Given the description of an element on the screen output the (x, y) to click on. 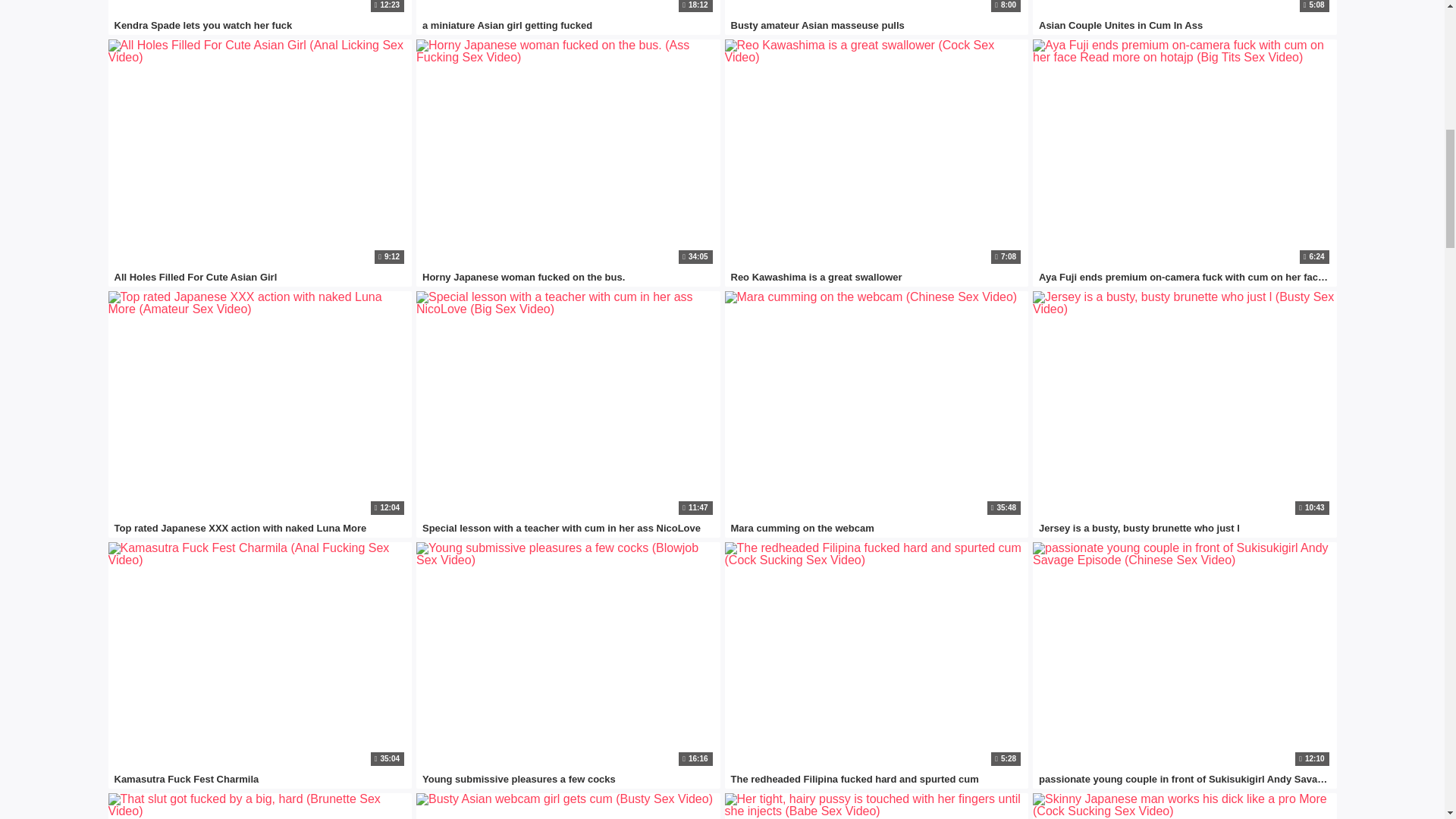
Big Cock Porn Movie: Kendra Spade lets you watch her fuck (259, 7)
Couple Porn Movie: Asian Couple Unites in Cum In Ass (1184, 7)
Cock Porn Movie: Reo Kawashima is a great swallower (877, 152)
Blowjob Porn Movie: Busty amateur Asian masseuse pulls (877, 7)
Chinese Porn Movie: Mara cumming on the webcam (877, 404)
